Given the description of an element on the screen output the (x, y) to click on. 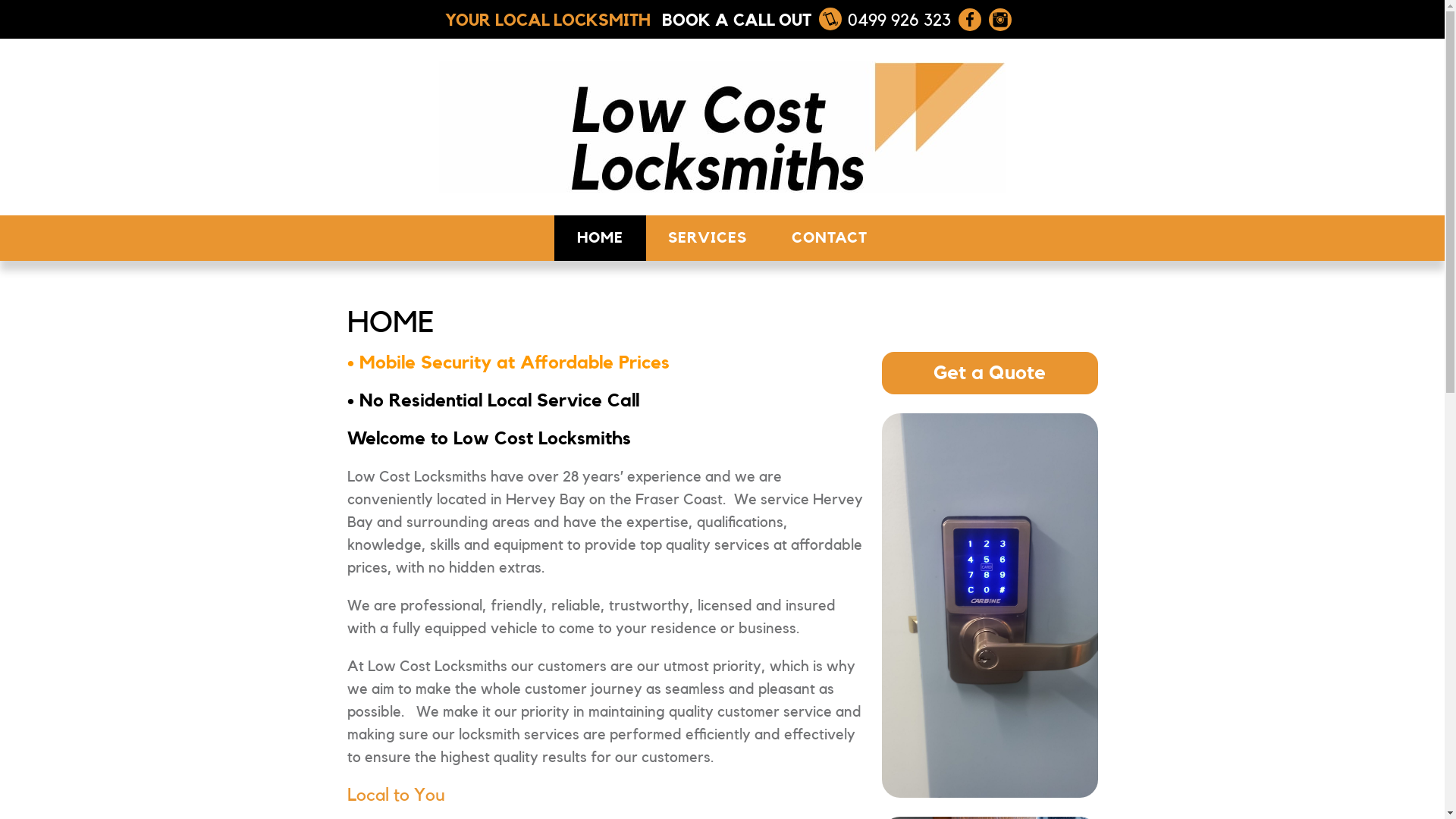
Low Cost Locksmiths Element type: hover (722, 126)
0499 926 323 Element type: text (884, 19)
facebook Element type: text (969, 18)
HOME Element type: text (600, 237)
Get a Quote Element type: text (989, 372)
SERVICES Element type: text (707, 237)
CONTACT Element type: text (829, 237)
instagram Element type: text (999, 18)
